Given the description of an element on the screen output the (x, y) to click on. 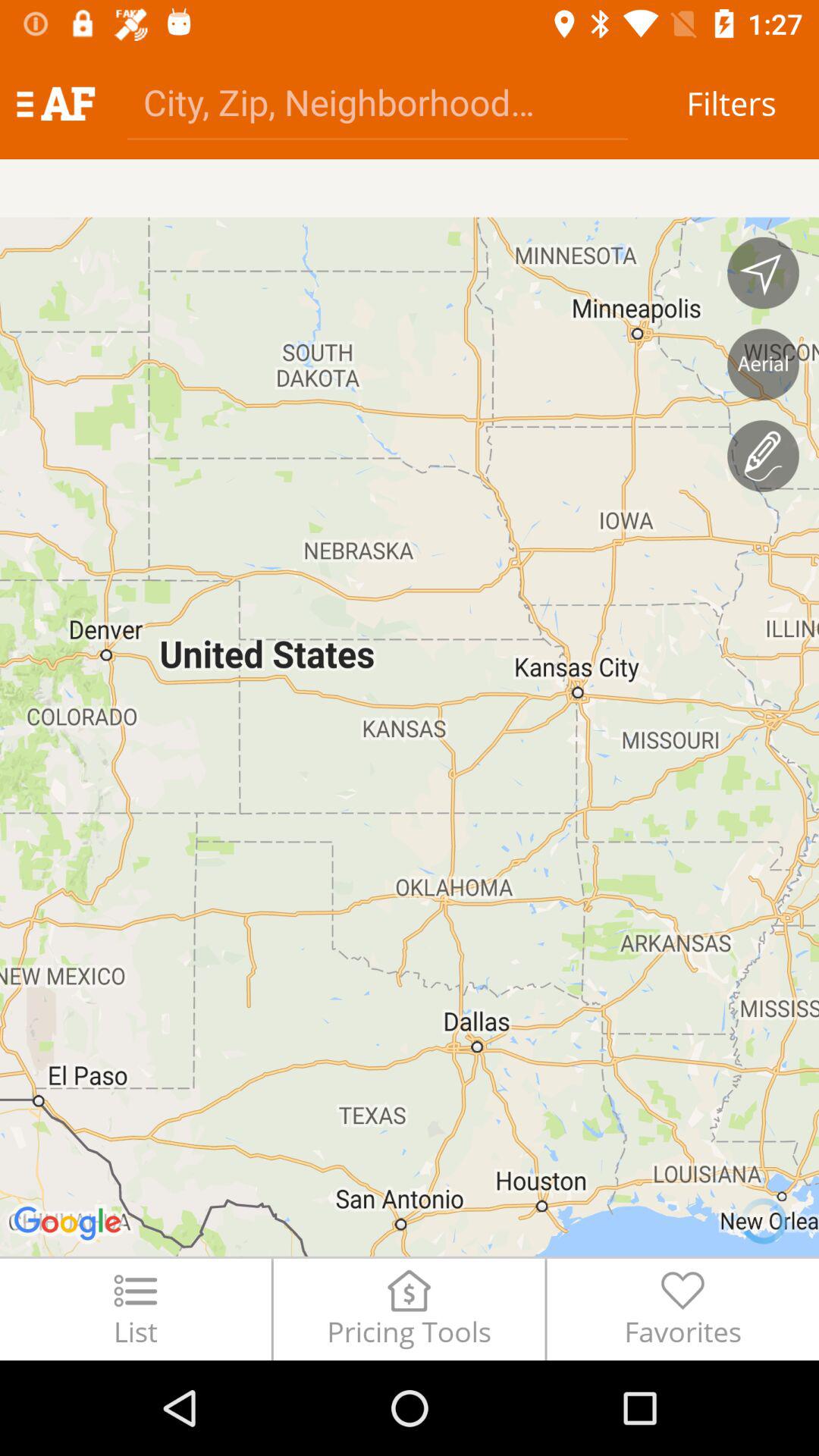
launch the pricing tools item (408, 1309)
